Given the description of an element on the screen output the (x, y) to click on. 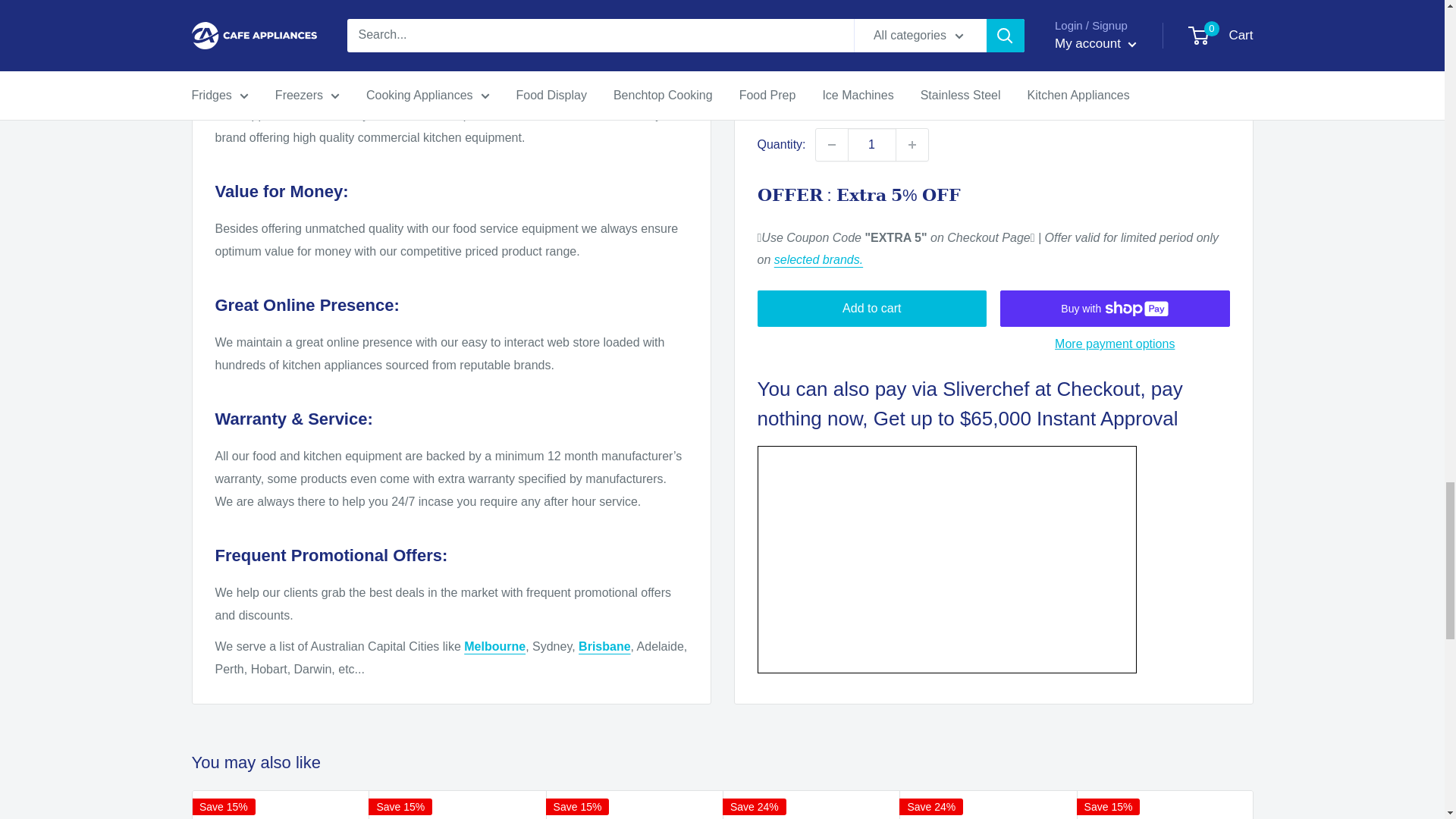
Commercial Fridges Supplier in Melbourne (494, 645)
Commercial Fridges Suppliers in Brisbane (604, 645)
